Given the description of an element on the screen output the (x, y) to click on. 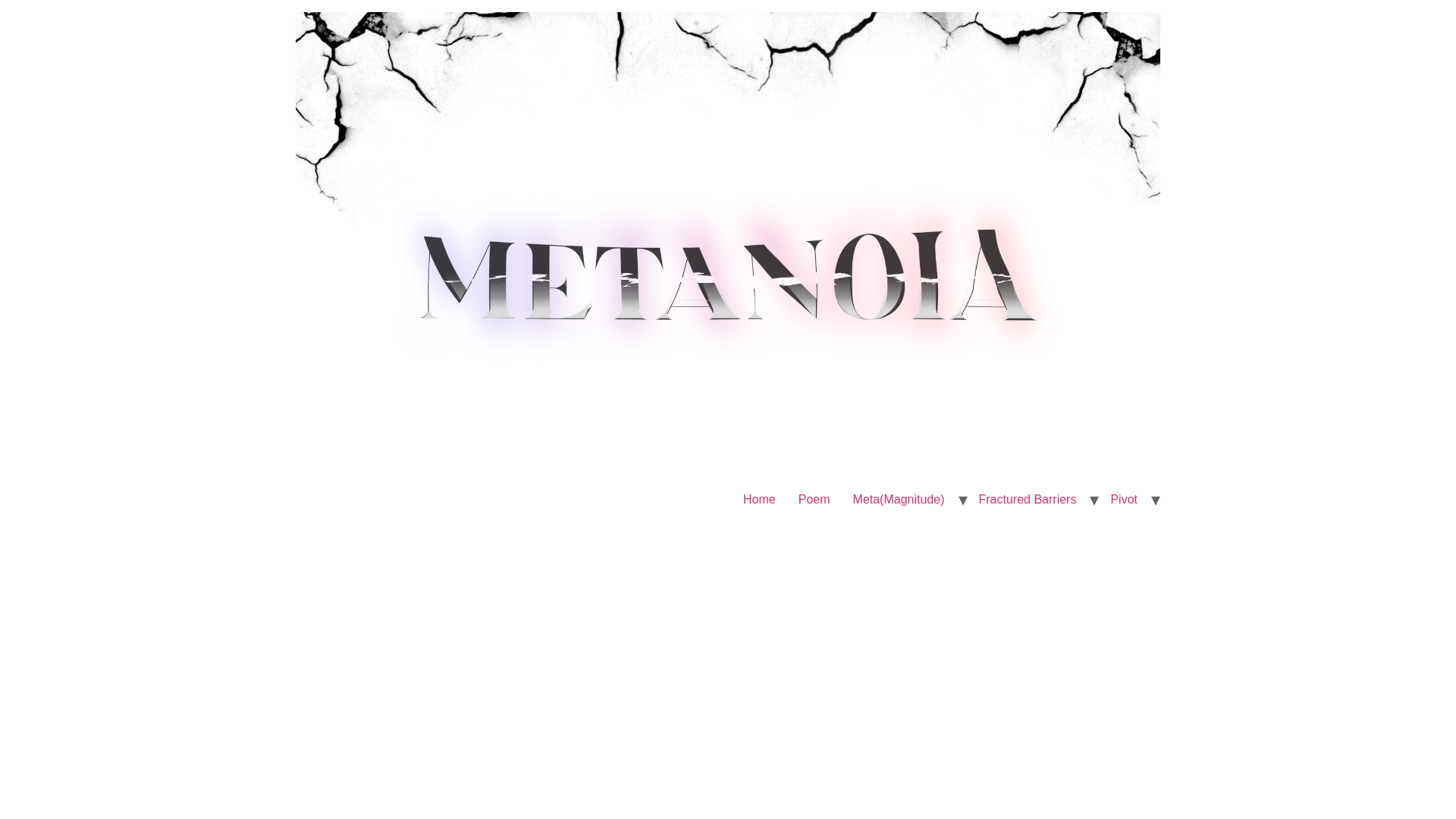
Fractured Barriers (1027, 499)
Poem (814, 499)
Pivot (1123, 499)
Home (759, 499)
